Given the description of an element on the screen output the (x, y) to click on. 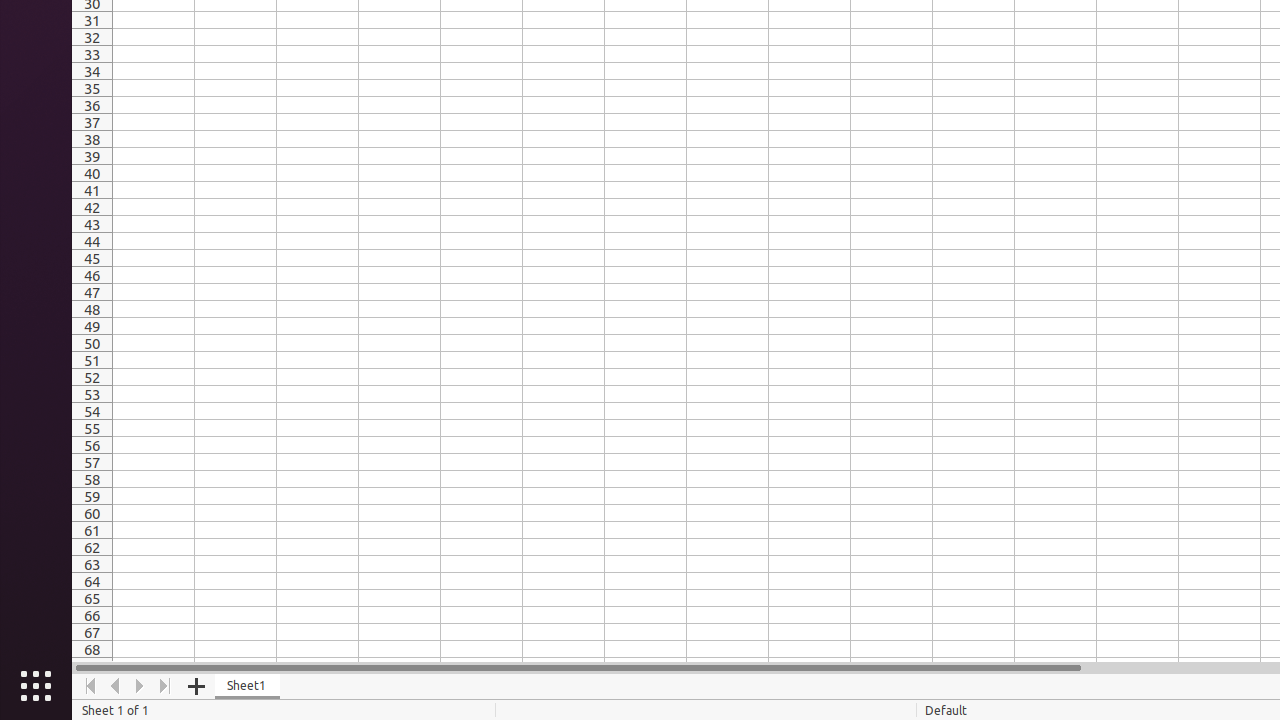
Move To Home Element type: push-button (90, 686)
Move Left Element type: push-button (115, 686)
Sheet1 Element type: page-tab (247, 686)
Move Right Element type: push-button (140, 686)
Move To End Element type: push-button (165, 686)
